Given the description of an element on the screen output the (x, y) to click on. 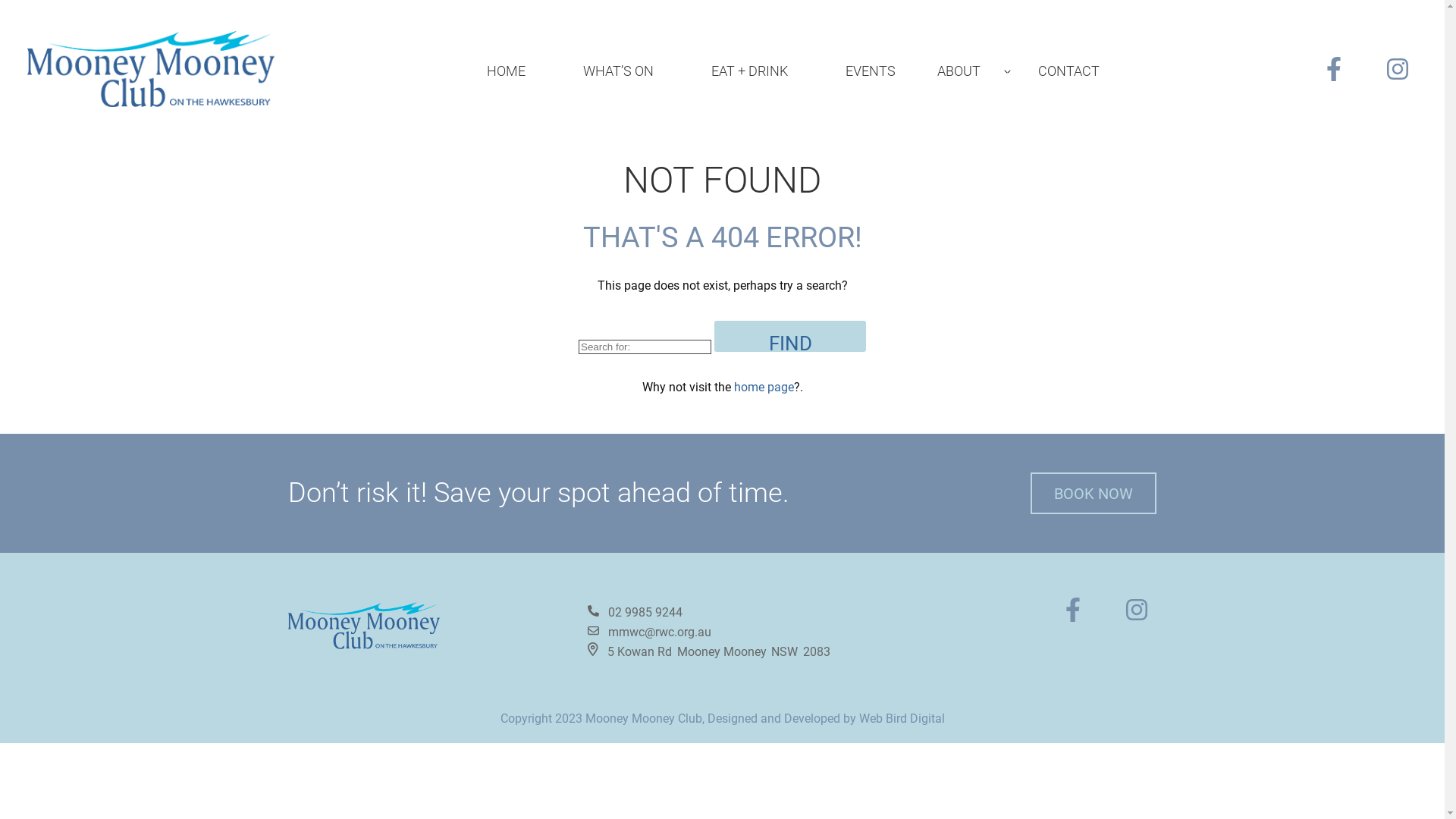
EVENTS Element type: text (870, 70)
HOME Element type: text (505, 70)
ABOUT Element type: text (966, 70)
02 9985 9244 Element type: text (645, 612)
Follow us on Instagram Element type: hover (1401, 68)
home Element type: hover (151, 68)
home page Element type: text (763, 386)
Like us on Facebook Element type: hover (1079, 614)
BOOK NOW Element type: text (1092, 493)
CONTACT Element type: text (1068, 70)
Like us on Facebook Element type: hover (1341, 68)
Web Bird Digital Element type: text (901, 718)
mmwc@rwc.org.au Element type: text (649, 631)
Follow us on Instagram Element type: hover (1140, 614)
FIND Element type: text (790, 335)
EAT + DRINK Element type: text (749, 70)
